Given the description of an element on the screen output the (x, y) to click on. 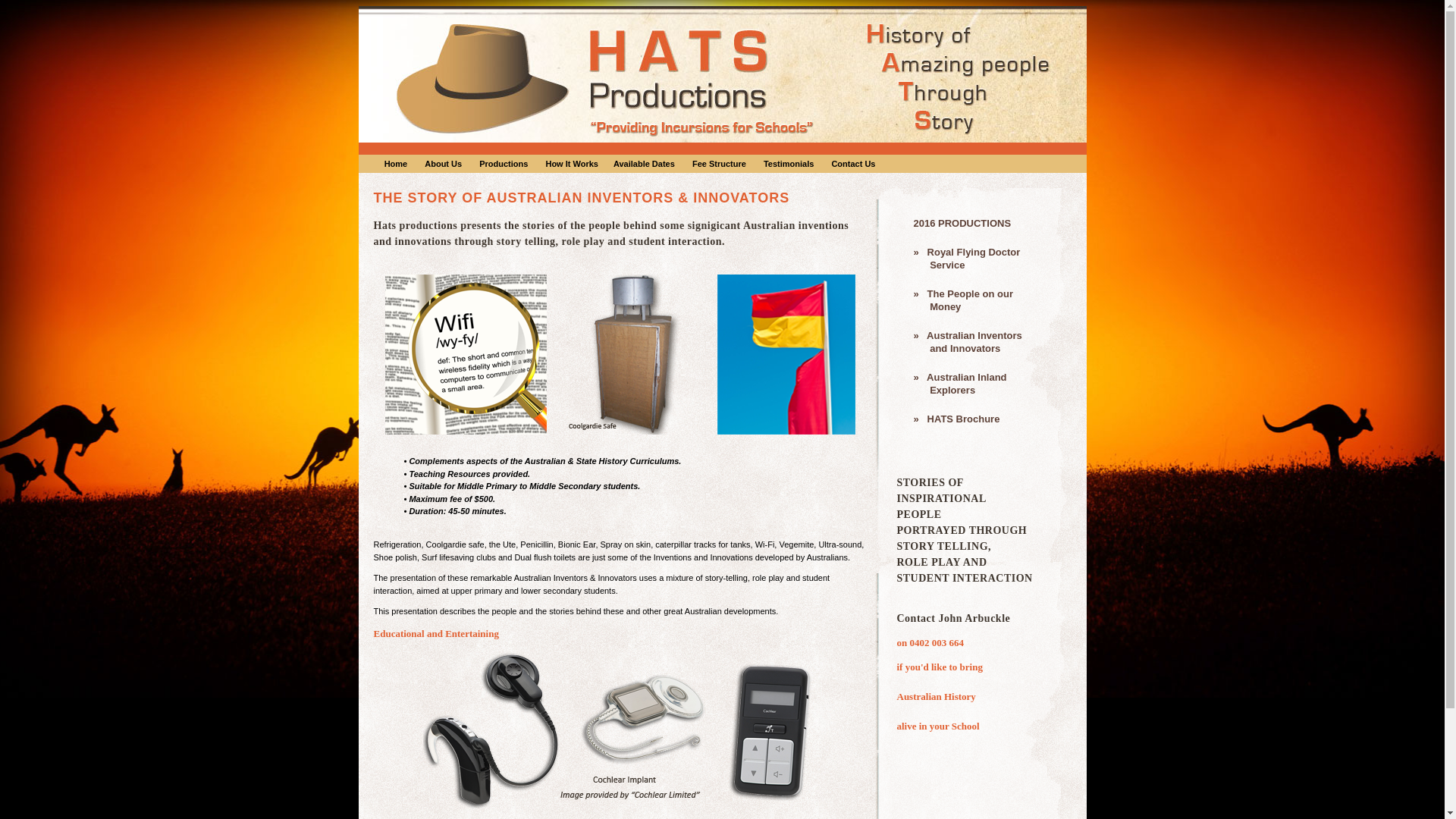
2016 PRODUCTIONS Element type: text (987, 223)
Contact Us Element type: text (853, 162)
  Element type: text (364, 162)
Productions Element type: text (503, 162)
Available Dates Element type: text (643, 162)
About Us Element type: text (442, 162)
Fee Structure Element type: text (719, 162)
Home Element type: text (396, 162)
How It Works Element type: text (571, 162)
Testimonials Element type: text (788, 162)
